Given the description of an element on the screen output the (x, y) to click on. 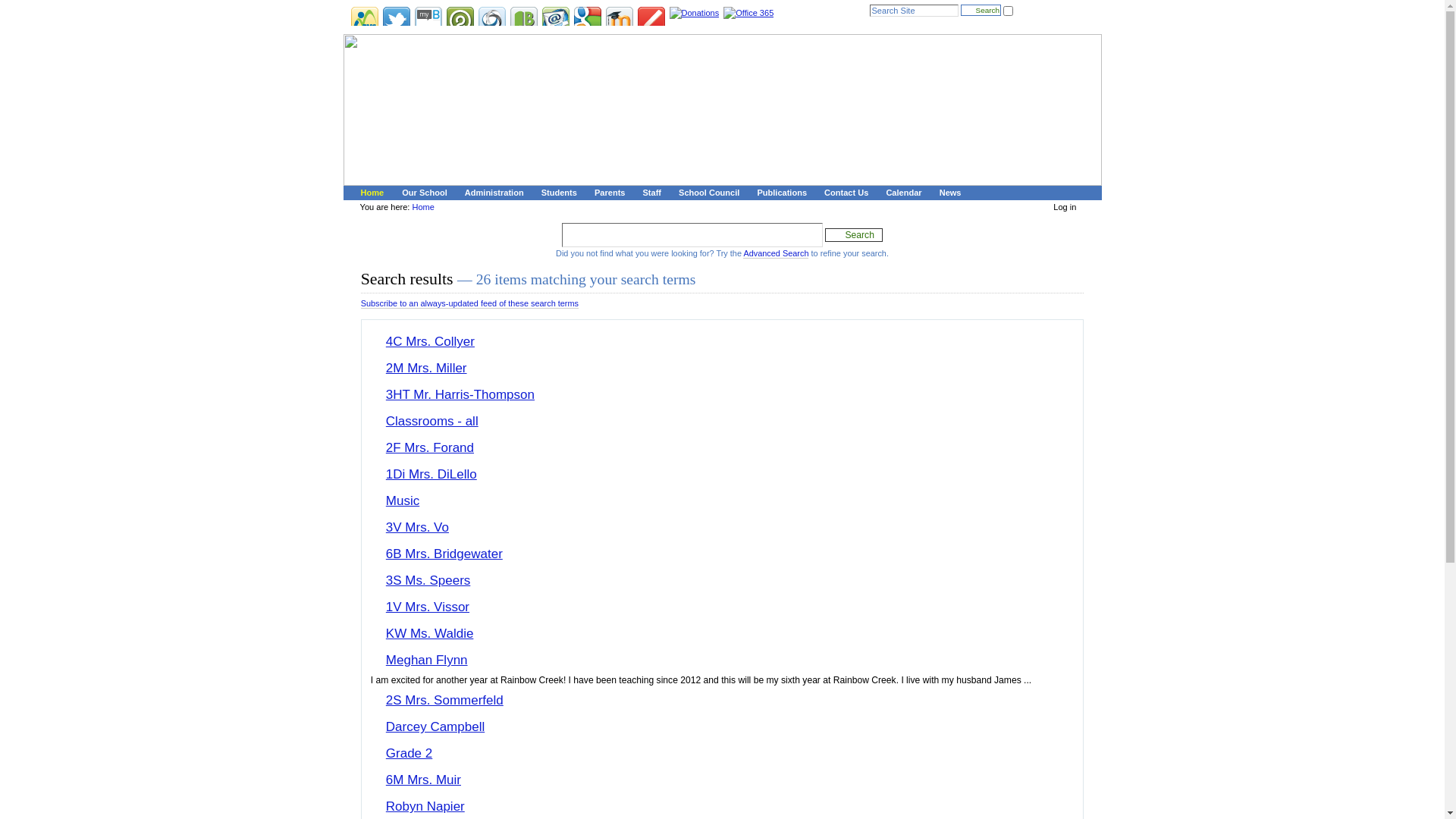
Home Element type: text (370, 192)
Darcey Campbell Element type: text (434, 726)
Administration Element type: text (491, 192)
3S Ms. Speers Element type: text (427, 580)
Search Site Element type: hover (913, 10)
2F Mrs. Forand Element type: text (429, 447)
Parents Element type: text (607, 192)
6M Mrs. Muir Element type: text (423, 779)
Staff Element type: text (649, 192)
Log in Element type: text (1064, 206)
2M Mrs. Miller Element type: text (426, 367)
1V Mrs. Vissor Element type: text (427, 606)
Contact Us Element type: text (843, 192)
Grade 2 Element type: text (408, 753)
School Cash Net Element type: hover (491, 19)
Rocky View Corporate Site Element type: hover (363, 19)
4C Mrs. Collyer Element type: text (429, 341)
3HT Mr. Harris-Thompson Element type: text (459, 394)
Bibliovation Element type: hover (522, 19)
Students Element type: text (556, 192)
Robyn Napier Element type: text (424, 806)
Moodle Element type: hover (618, 19)
Calendar Element type: text (900, 192)
RVS Gmail Element type: hover (554, 19)
Advanced Search Element type: text (775, 253)
Search Element type: text (853, 234)
Search Site Element type: hover (691, 234)
Google Element type: hover (586, 19)
1Di Mrs. DiLello Element type: text (430, 474)
2S Mrs. Sommerfeld Element type: text (444, 700)
My Blueprint Element type: hover (427, 19)
Office 365 Element type: hover (748, 11)
KW Ms. Waldie Element type: text (429, 633)
Student Blogs Element type: hover (650, 19)
Meghan Flynn Element type: text (426, 659)
Donations Element type: hover (693, 11)
Subscribe to an always-updated feed of these search terms Element type: text (469, 303)
3V Mrs. Vo Element type: text (416, 527)
Publications Element type: text (778, 192)
Music Element type: text (402, 500)
Power School Element type: hover (459, 19)
Twitter Element type: hover (395, 19)
Classrooms - all Element type: text (431, 421)
Our School Element type: text (421, 192)
News Element type: text (947, 192)
6B Mrs. Bridgewater Element type: text (443, 553)
Home Element type: text (423, 206)
Search Element type: text (980, 9)
School Council Element type: text (706, 192)
